Given the description of an element on the screen output the (x, y) to click on. 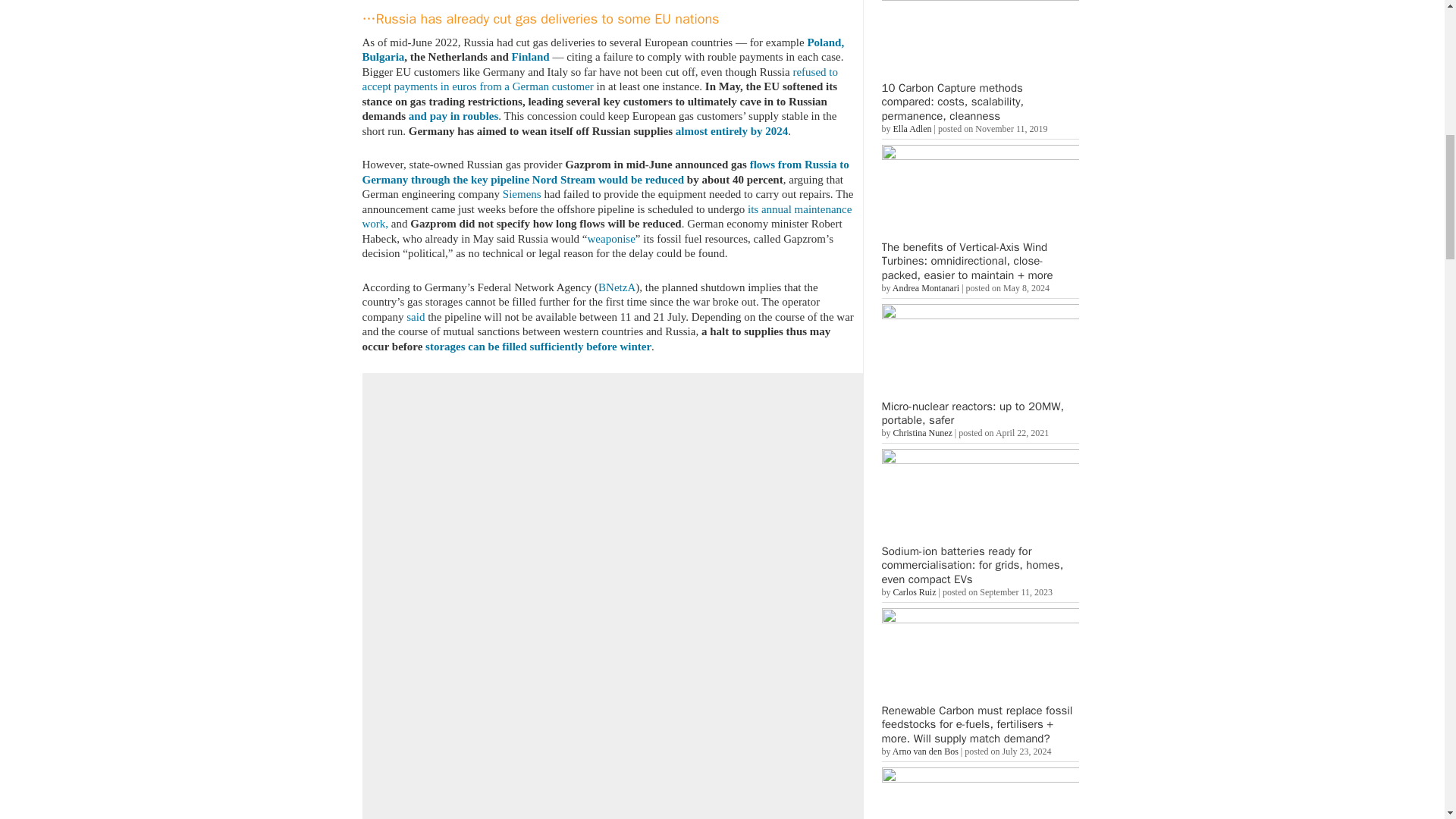
Finland (531, 56)
weaponise (611, 237)
storages can be filled sufficiently before winter (537, 345)
refused to accept payments in euros from a German customer (600, 78)
almost entirely by 2024 (731, 130)
Poland, Bulgaria (603, 49)
Siemens (521, 193)
said (415, 316)
its annual maintenance work, (606, 216)
BNetzA (616, 286)
and pay in roubles (454, 115)
